Given the description of an element on the screen output the (x, y) to click on. 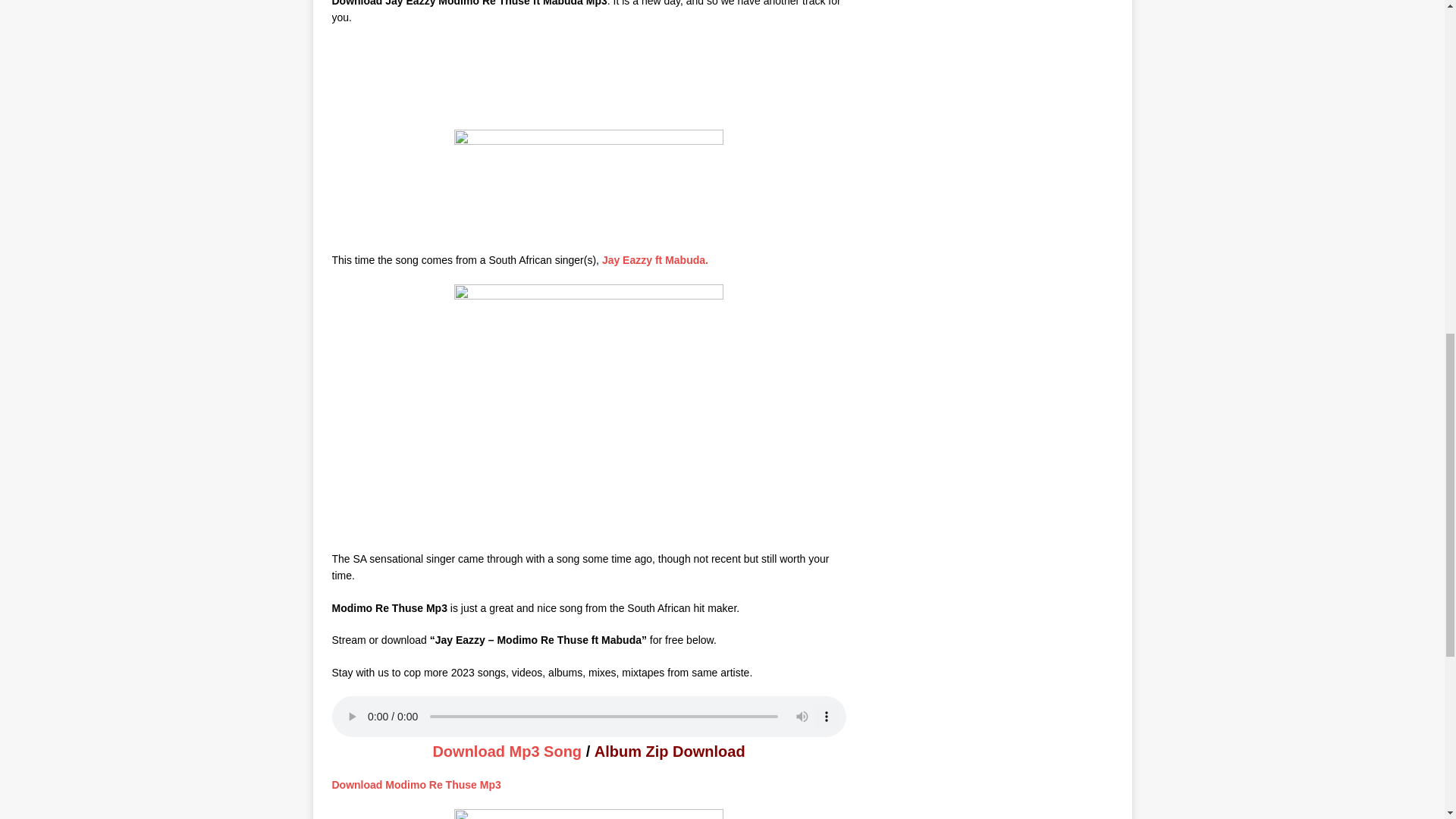
Download Mp3 Song (506, 751)
Download Modimo Re Thuse Mp3 (415, 784)
Jay Eazzy ft Mabuda. (654, 259)
Album Zip Download (669, 751)
